Given the description of an element on the screen output the (x, y) to click on. 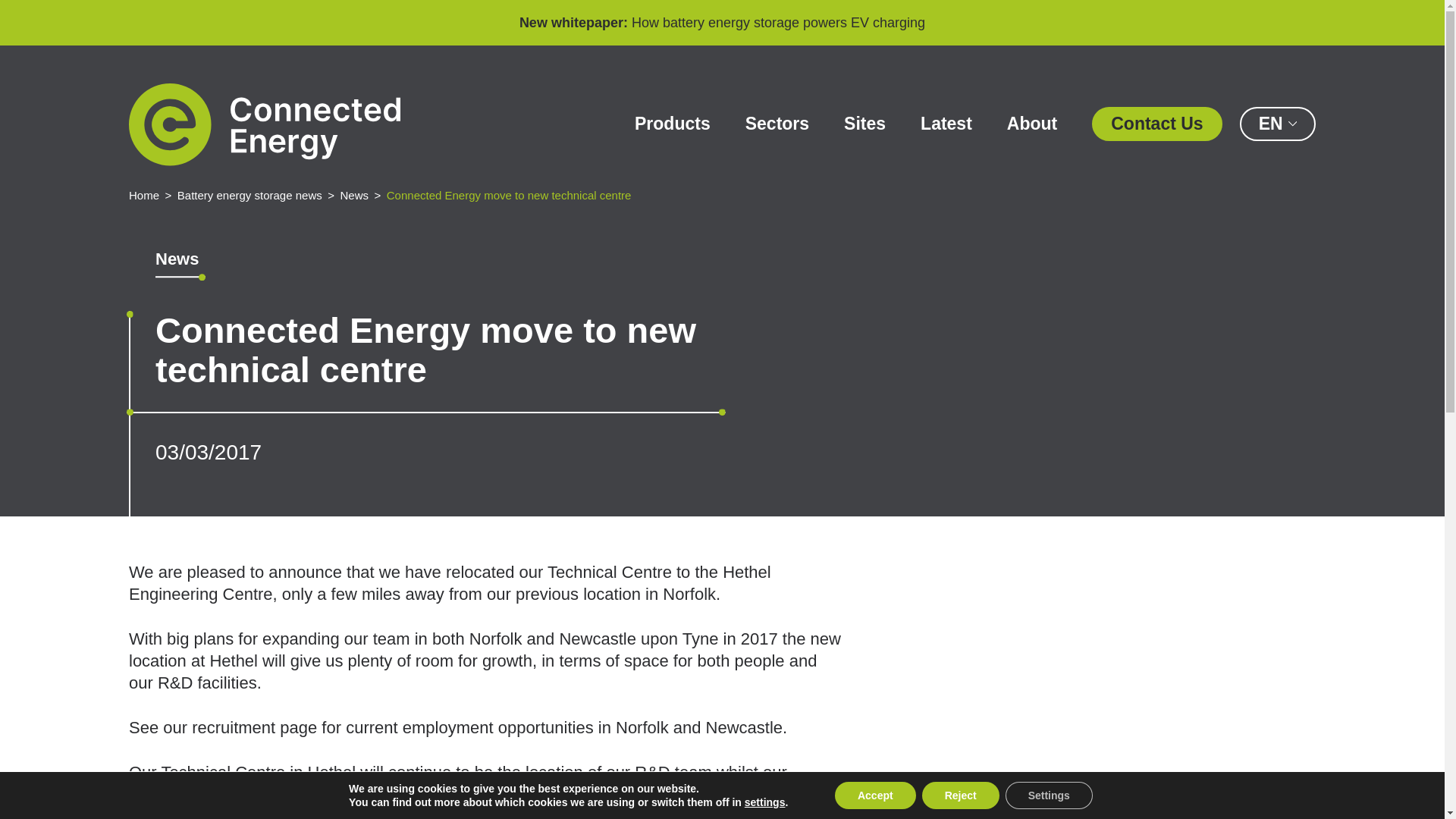
Go to Battery energy storage news. (249, 195)
Sites (864, 123)
Products (672, 123)
Sectors (777, 123)
Contact Us (1156, 123)
Go to the News Category archives. (353, 195)
Latest (946, 123)
Connected Energy home page (264, 124)
Go to the Connected Energy home page (264, 124)
About (1032, 123)
EN (1278, 123)
Go to Connected Energy. (143, 195)
